Given the description of an element on the screen output the (x, y) to click on. 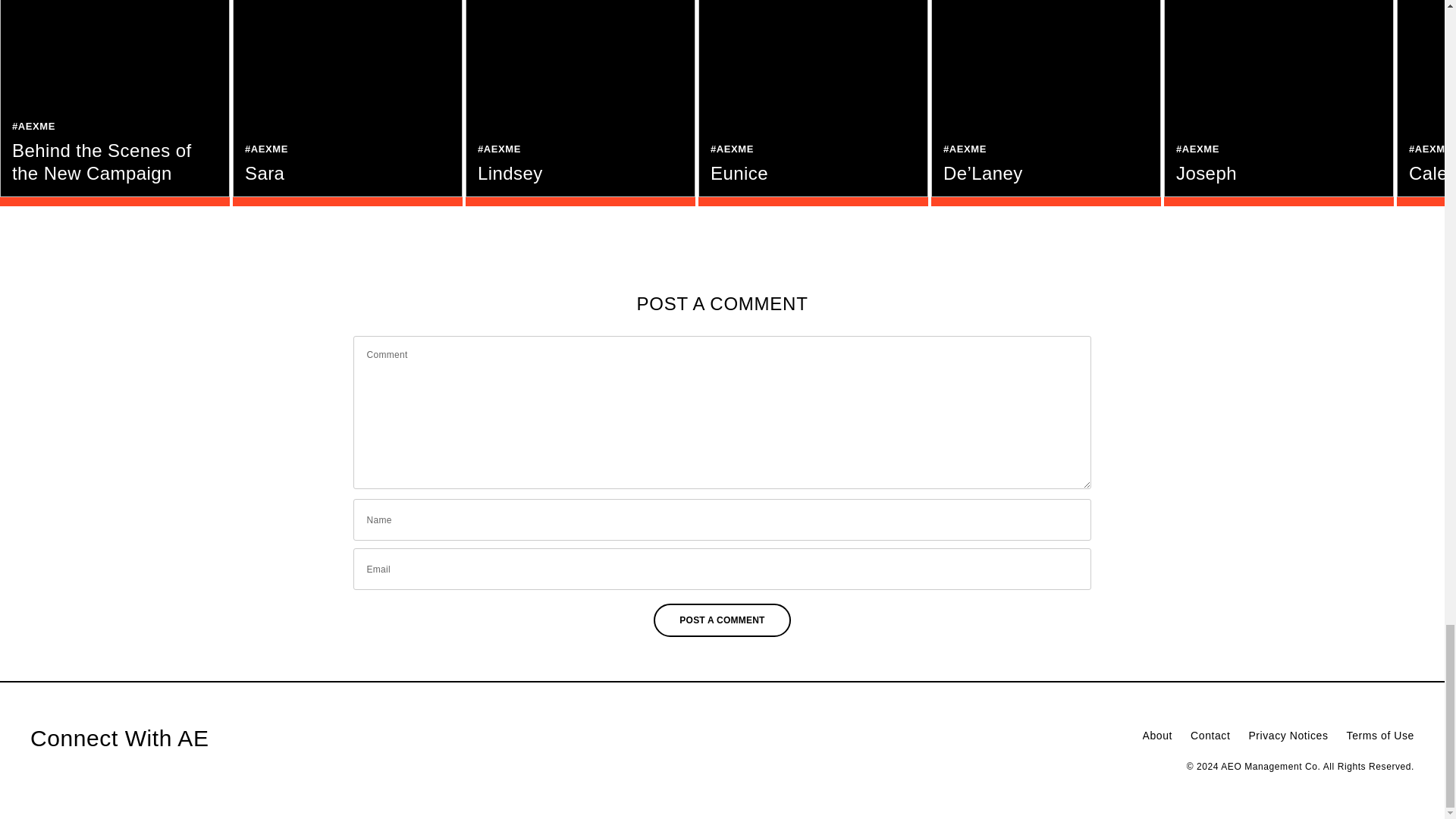
About (1157, 735)
Post a Comment (721, 620)
Post a Comment (721, 620)
